Given the description of an element on the screen output the (x, y) to click on. 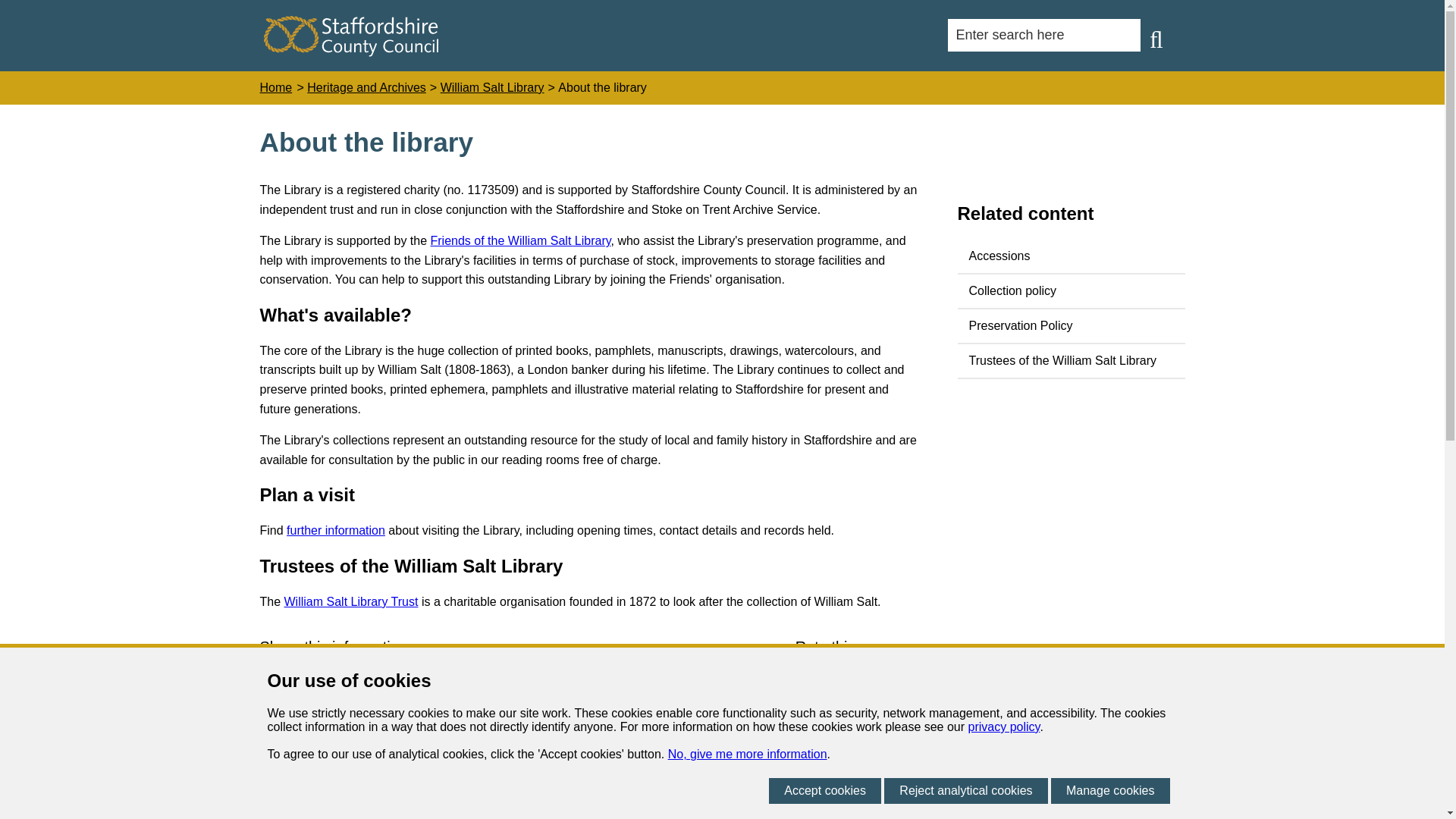
Search (1155, 39)
Go to Collection policy from here (1070, 291)
Home (275, 87)
Visit the Staffordshire County Council homepage (350, 51)
Manage cookies (1110, 790)
William Salt Library (492, 87)
 Share on Facebook (275, 684)
Reject analytical cookies (964, 790)
Enter search here (1043, 34)
 Share on LinkedIn (364, 684)
